Given the description of an element on the screen output the (x, y) to click on. 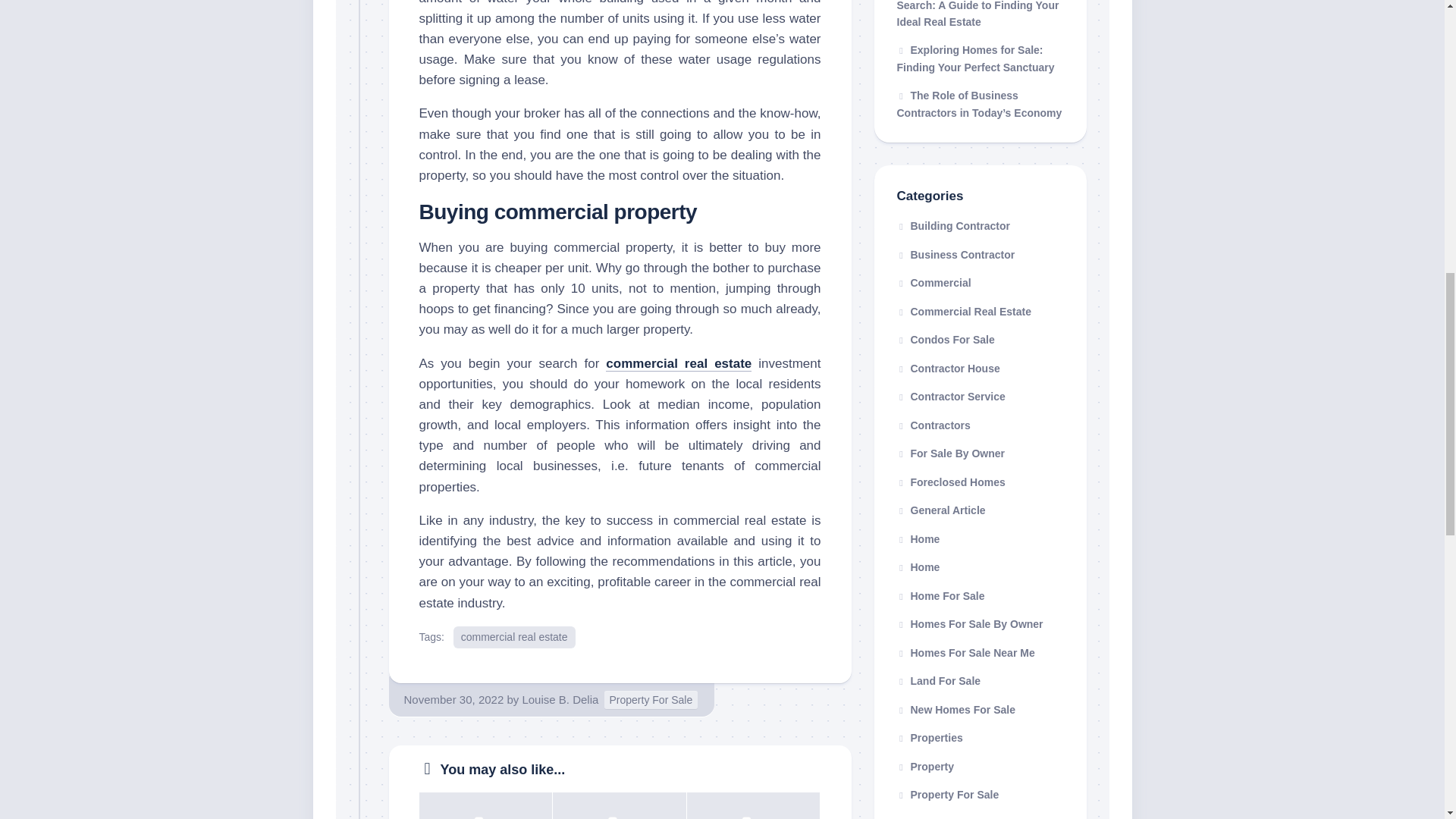
commercial real estate (513, 637)
commercial real estate (678, 363)
Louise B. Delia (559, 698)
Posts by Louise B. Delia (559, 698)
Property For Sale (651, 700)
